Given the description of an element on the screen output the (x, y) to click on. 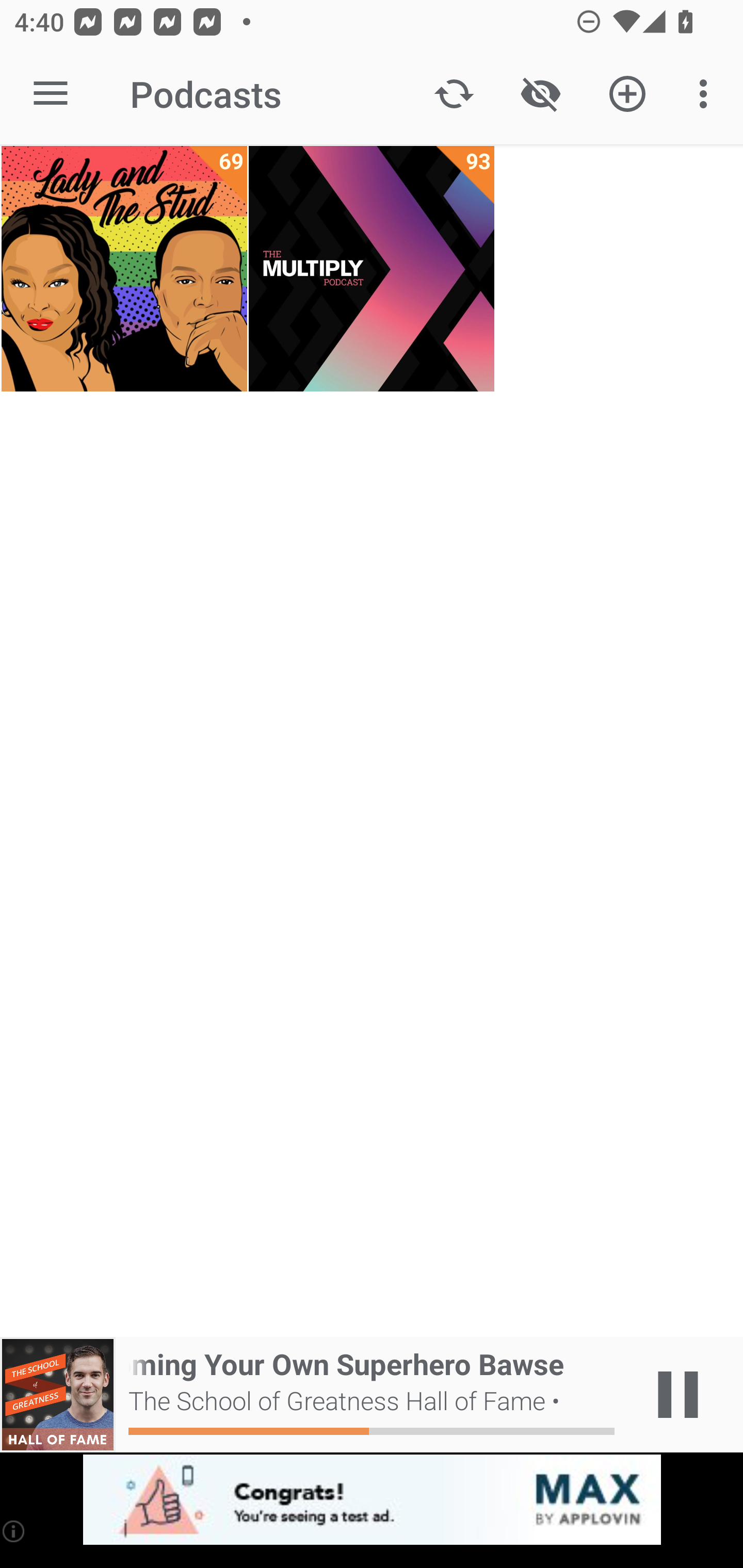
Open navigation sidebar (50, 93)
Update (453, 93)
Show / Hide played content (540, 93)
Add new Podcast (626, 93)
More options (706, 93)
Lady and The Stud 69 (124, 268)
The Multiply Podcast 93 (371, 268)
Play / Pause (677, 1394)
app-monetization (371, 1500)
(i) (14, 1531)
